Given the description of an element on the screen output the (x, y) to click on. 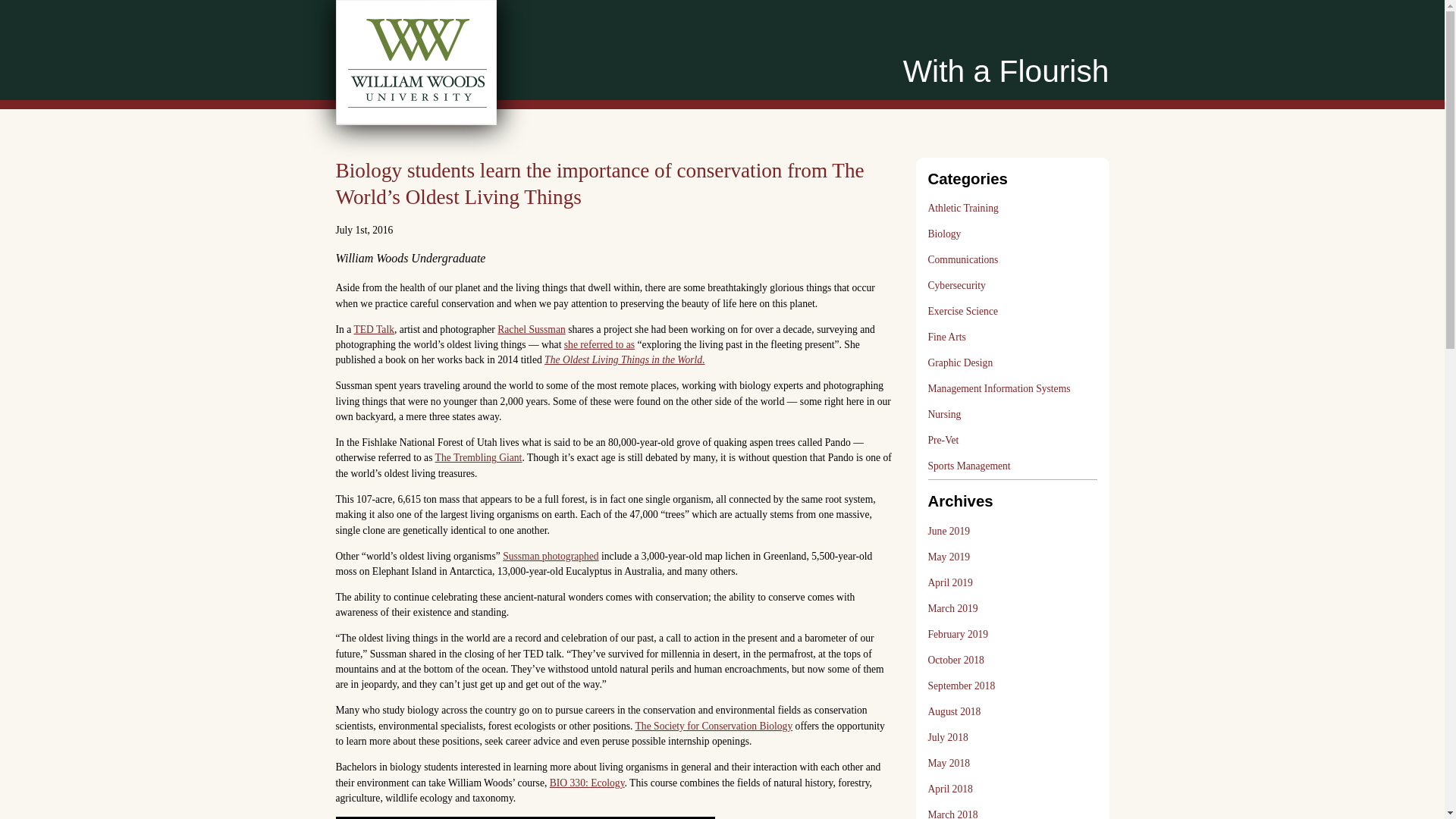
TED Talk (373, 328)
August 2018 (954, 711)
Communications (963, 260)
Exercise Science (962, 312)
July 2018 (948, 737)
October 2018 (956, 660)
The Oldest Living Things in the World. (624, 359)
April 2019 (950, 583)
September 2018 (961, 686)
Graphic Design (960, 363)
she referred to as (599, 344)
Management Information Systems (999, 389)
BIO 330: Ecology (587, 782)
